Given the description of an element on the screen output the (x, y) to click on. 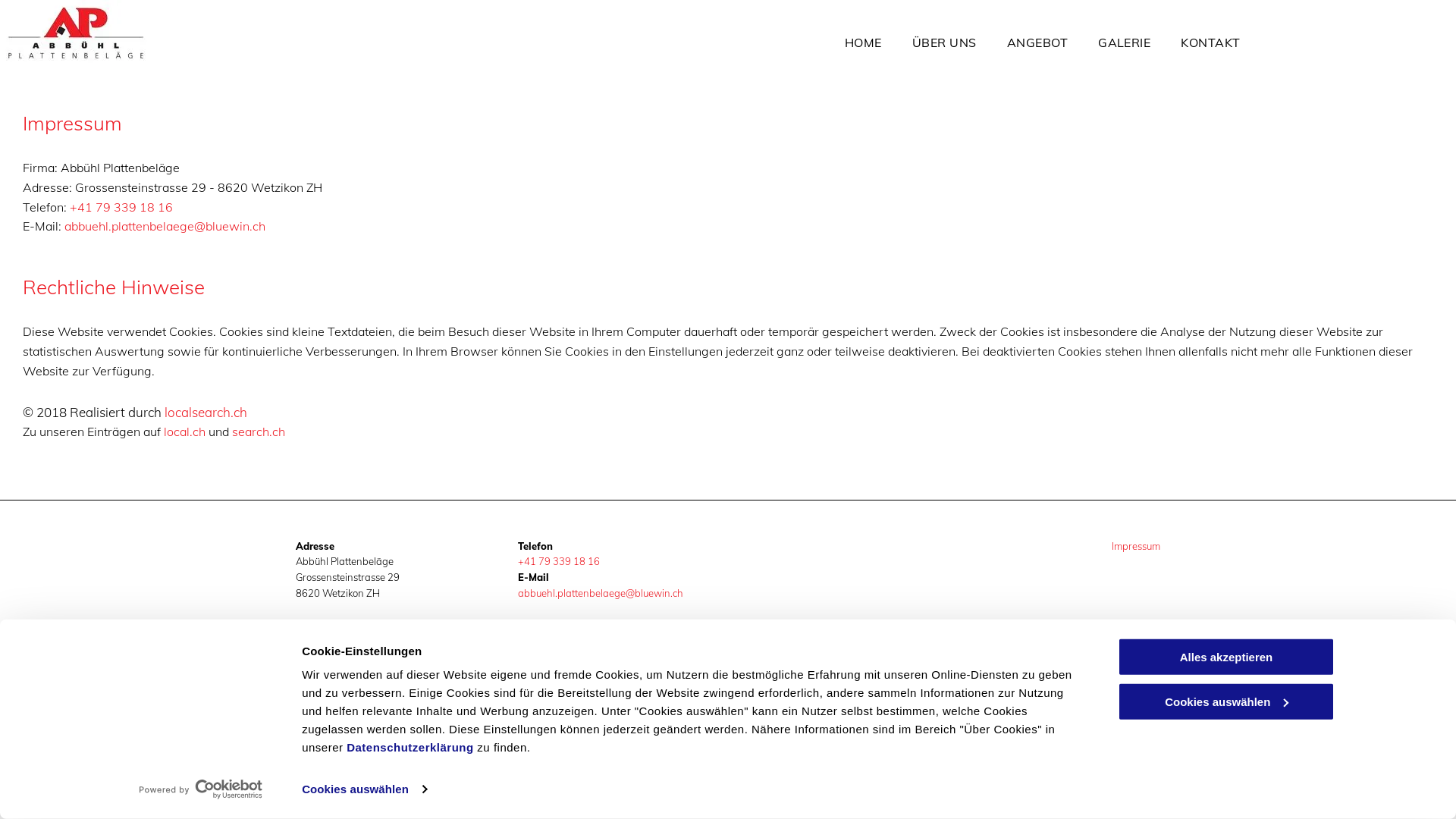
+41 79 339 18 16 Element type: text (120, 206)
abbuehl.plattenbelaege@bluewin.ch Element type: text (599, 592)
ANGEBOT Element type: text (1037, 41)
KONTAKT Element type: text (1209, 41)
GALERIE Element type: text (1124, 41)
abbuehl.plattenbelaege@bluewin.ch Element type: text (164, 225)
localsearch.ch Element type: text (205, 412)
Impressum Element type: text (1135, 545)
+41 79 339 18 16 Element type: text (558, 561)
HOME Element type: text (862, 41)
search.ch Element type: text (258, 431)
Alles akzeptieren Element type: text (1225, 656)
local.ch Element type: text (184, 431)
